Given the description of an element on the screen output the (x, y) to click on. 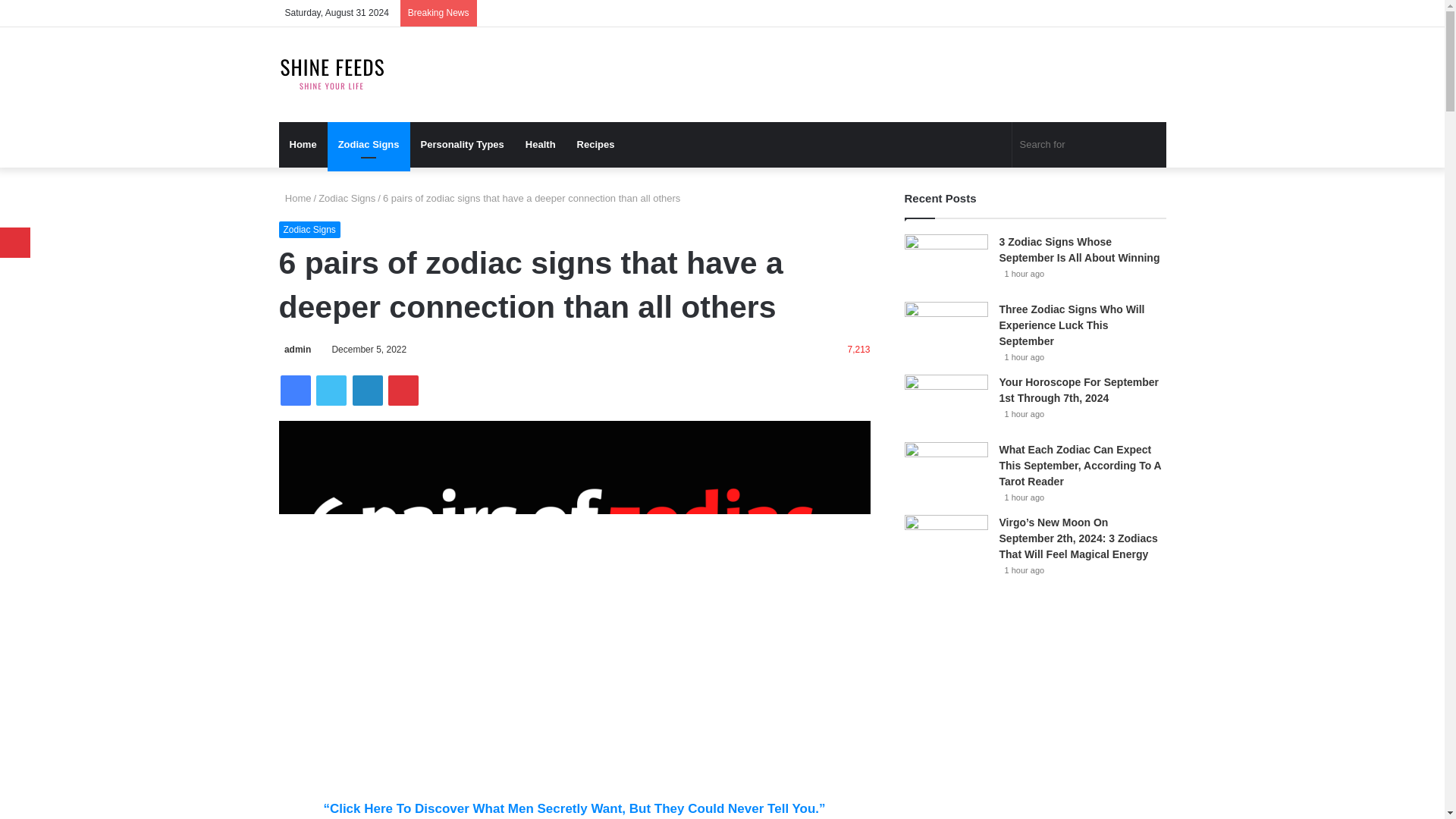
admin (295, 348)
LinkedIn (367, 390)
Home (303, 144)
ShineFeeds (332, 74)
LinkedIn (367, 390)
Health (540, 144)
Home (295, 197)
Zodiac Signs (346, 197)
Recipes (596, 144)
Twitter (330, 390)
